Given the description of an element on the screen output the (x, y) to click on. 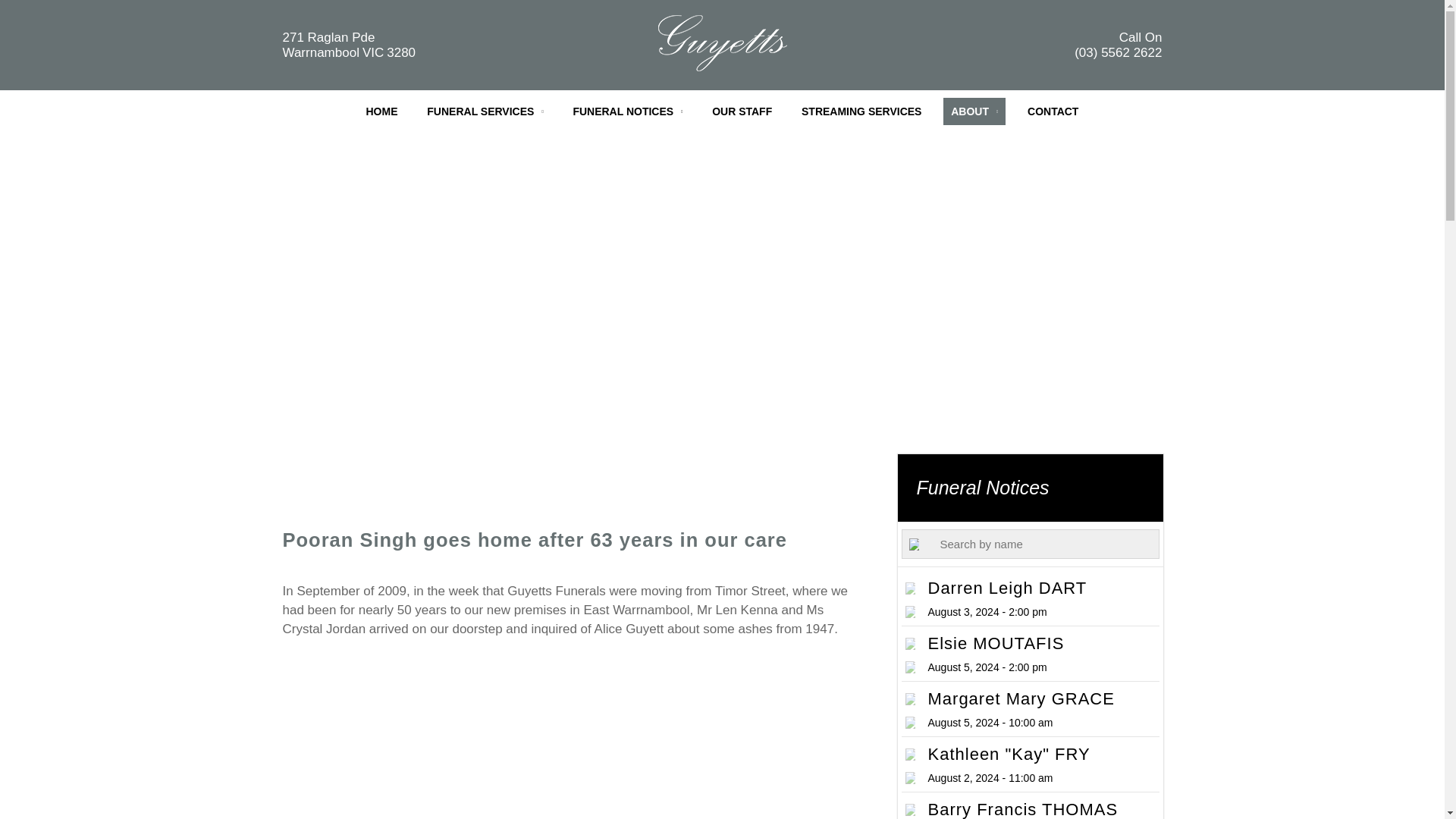
Funeral Notices (1030, 653)
